Given the description of an element on the screen output the (x, y) to click on. 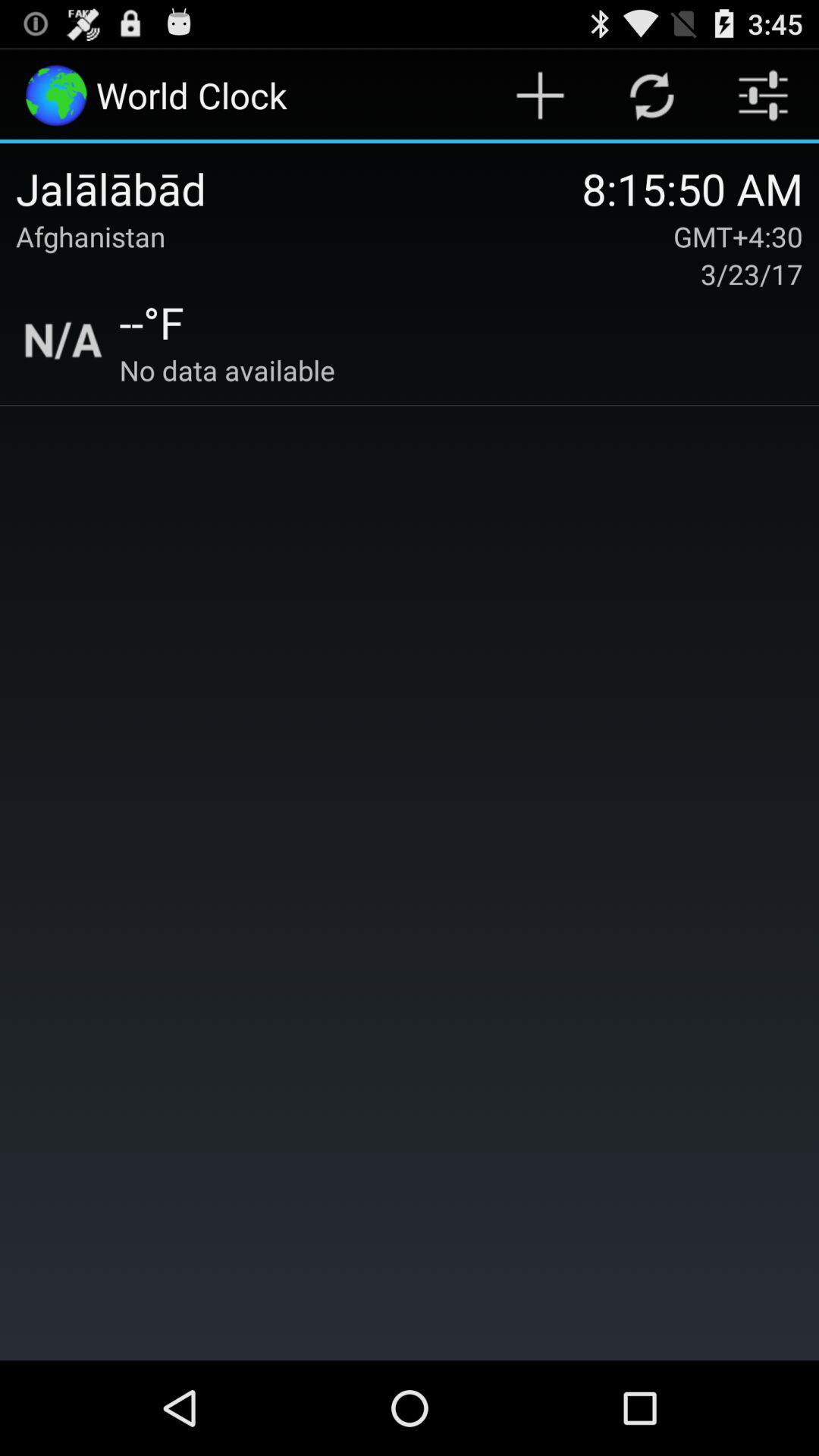
turn on the app above no data available icon (151, 321)
